Given the description of an element on the screen output the (x, y) to click on. 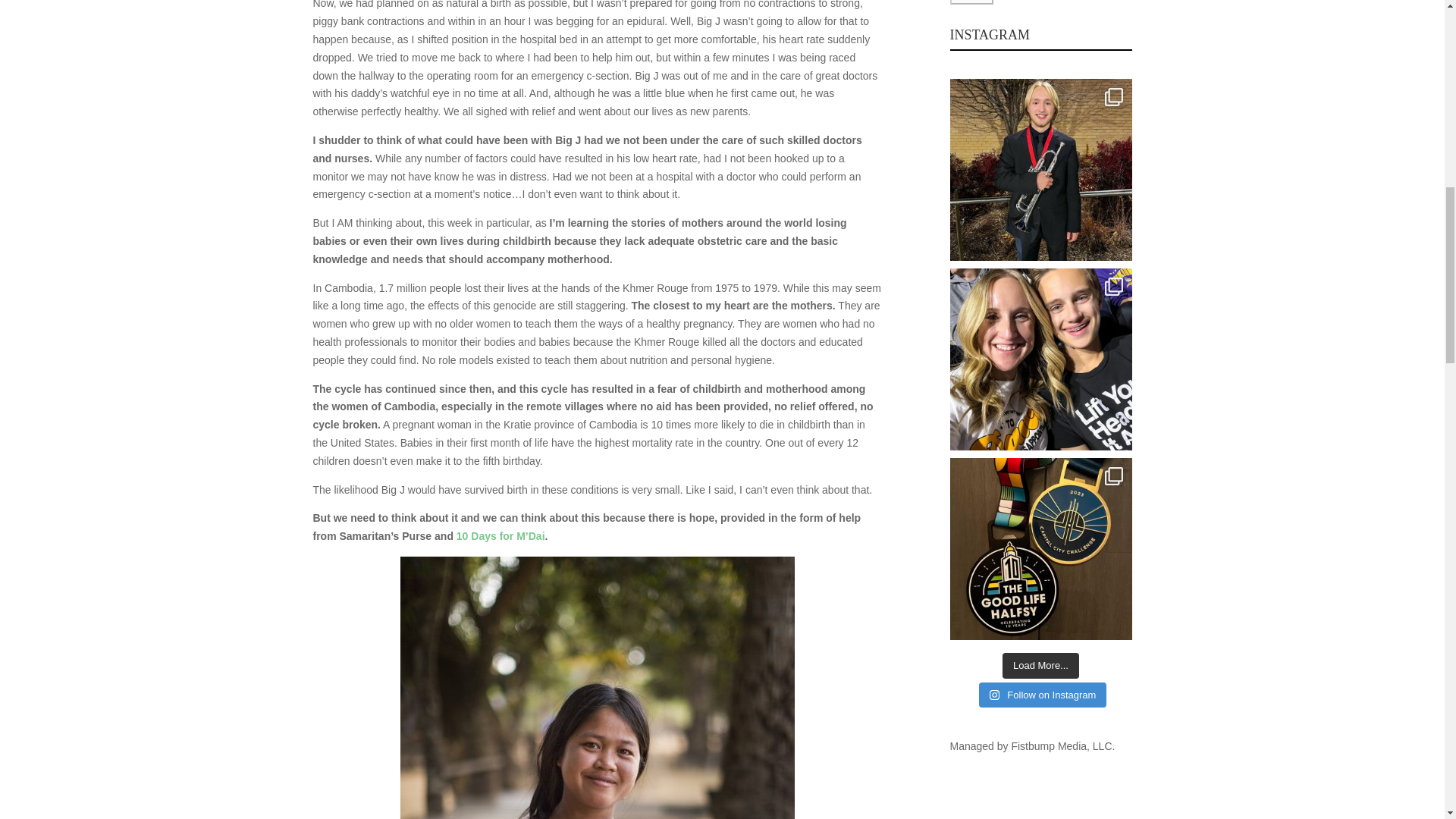
Submit (970, 2)
